Given the description of an element on the screen output the (x, y) to click on. 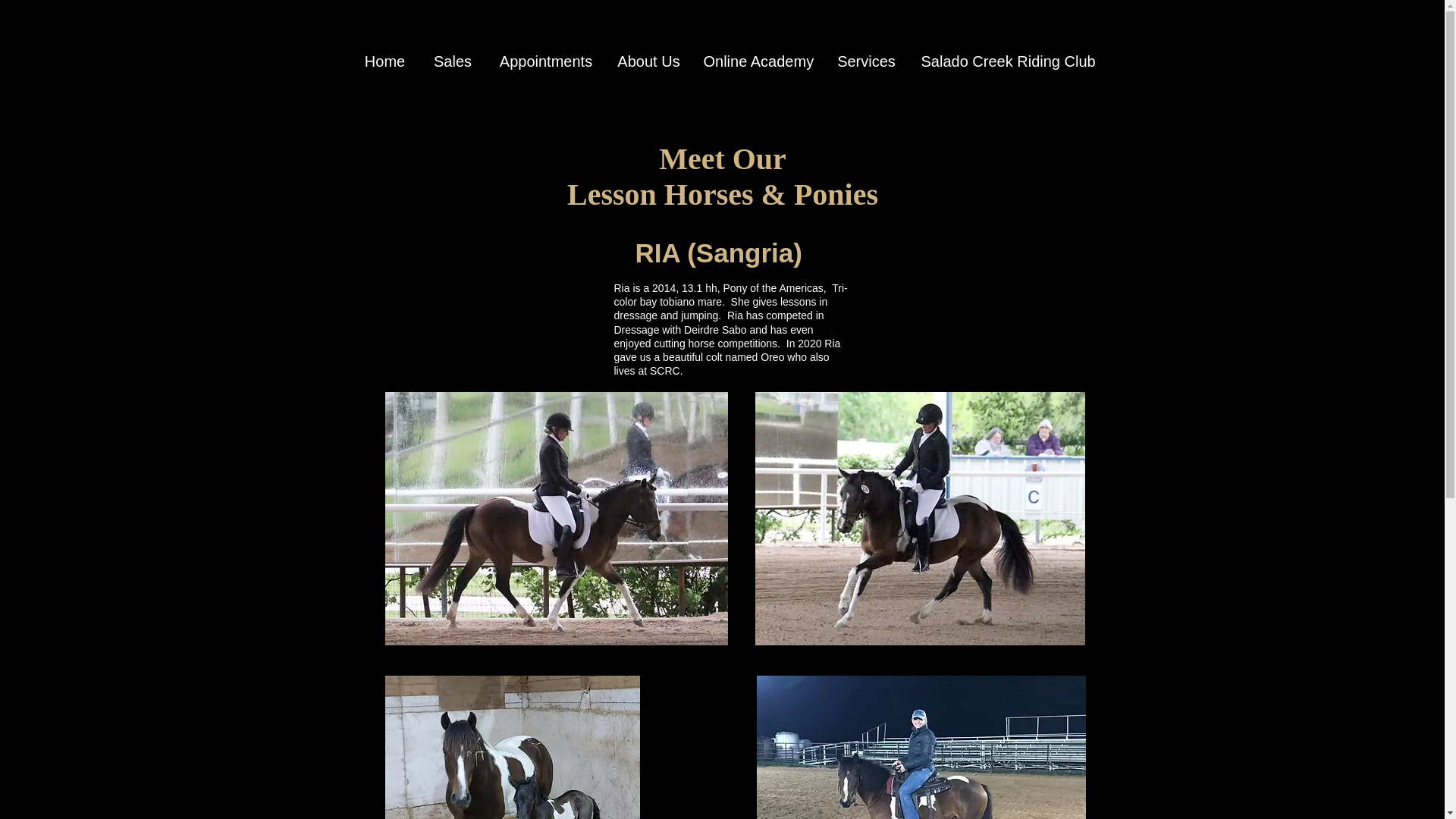
Services (867, 61)
Online Academy (756, 61)
Appointments (545, 61)
Salado Creek Riding Club (1002, 61)
Sales (452, 61)
About Us (648, 61)
Home (384, 61)
